Given the description of an element on the screen output the (x, y) to click on. 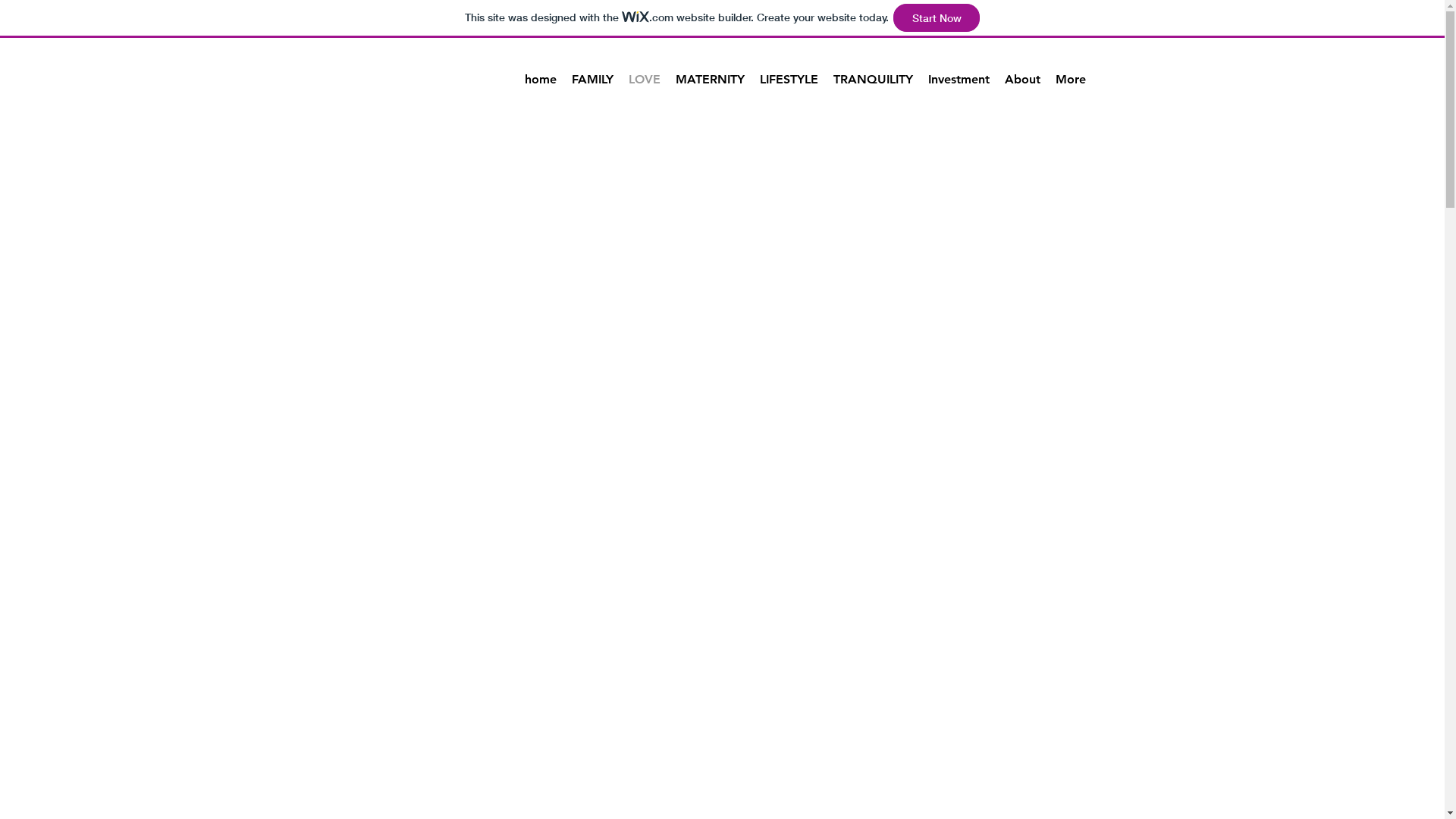
FAMILY Element type: text (592, 84)
home Element type: text (540, 84)
TRANQUILITY Element type: text (872, 84)
LOVE Element type: text (643, 84)
Investment Element type: text (958, 84)
MATERNITY Element type: text (709, 84)
LIFESTYLE Element type: text (788, 84)
About Element type: text (1021, 84)
